Given the description of an element on the screen output the (x, y) to click on. 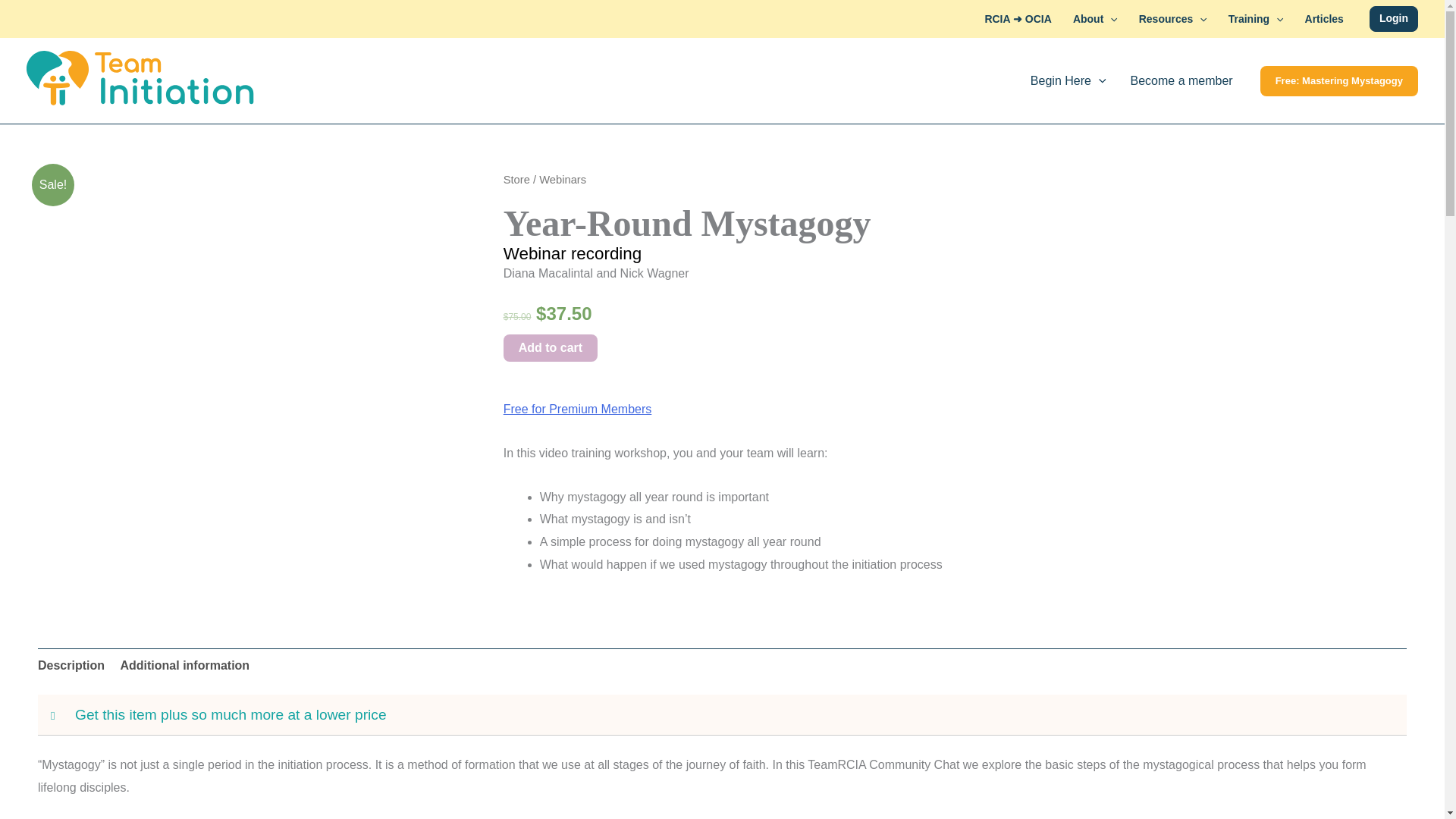
About (1095, 18)
Free: Mastering Mystagogy (1339, 81)
Training (1255, 18)
Articles (1324, 18)
Resources (1172, 18)
Become a member (1181, 80)
Begin Here (1067, 80)
Login (1394, 18)
